Given the description of an element on the screen output the (x, y) to click on. 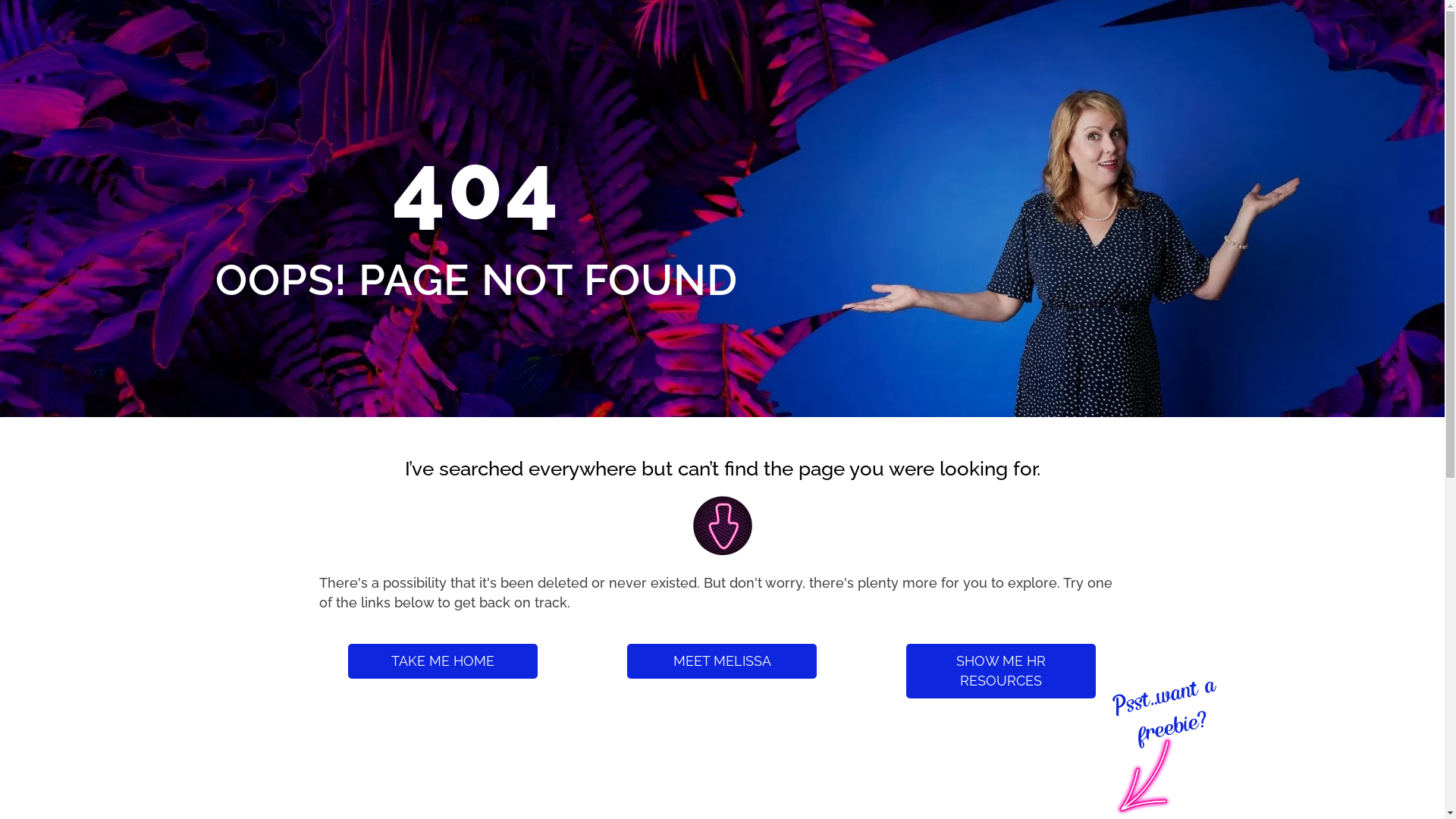
TAKE ME HOME Element type: text (442, 660)
SHOW ME HR RESOURCES Element type: text (1000, 670)
MEET MELISSA Element type: text (721, 660)
